Given the description of an element on the screen output the (x, y) to click on. 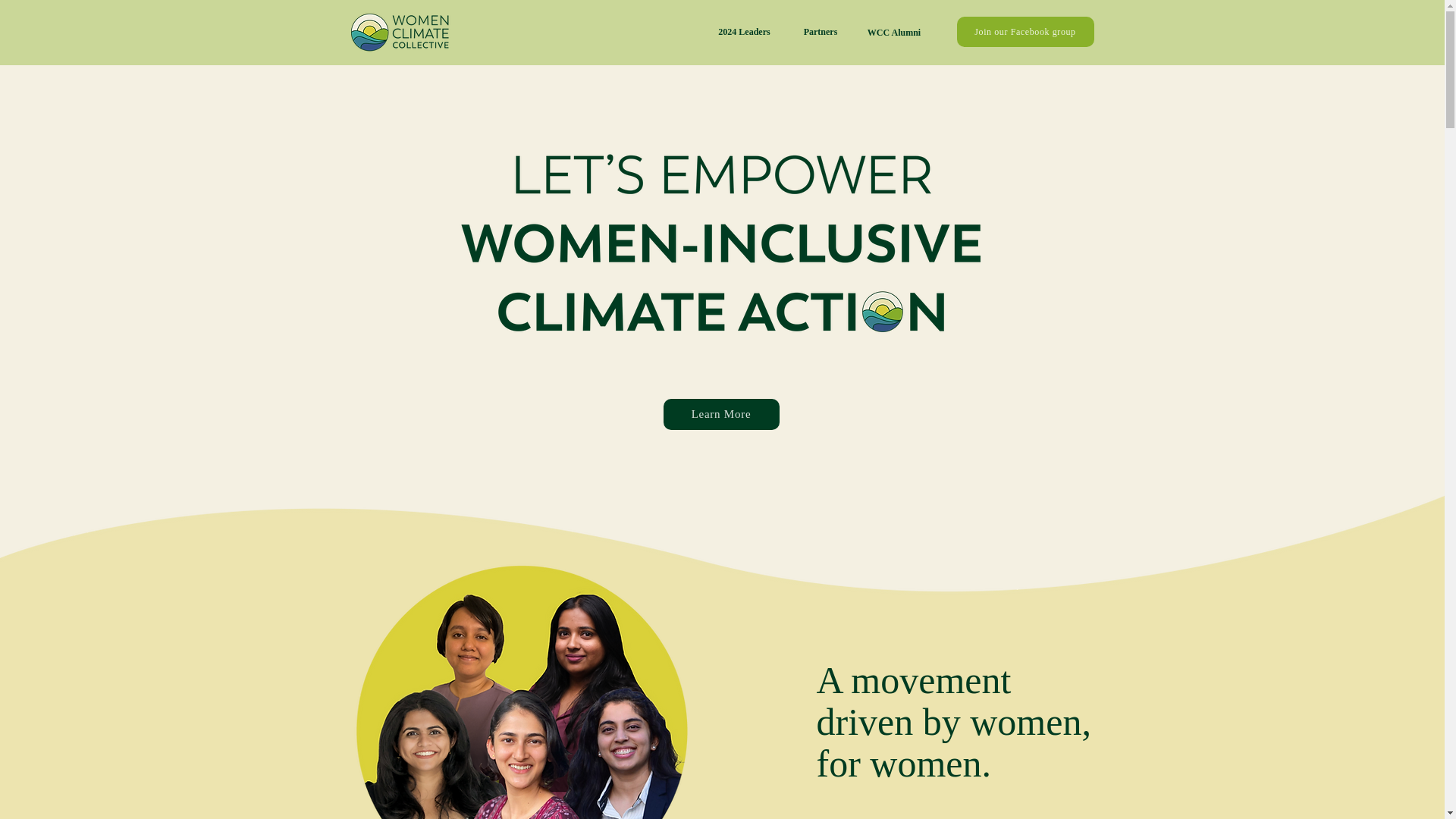
Partners (820, 31)
Join our Facebook group (1025, 31)
WCC Alumni (894, 32)
2024 Leaders (744, 31)
Learn More (720, 413)
